Given the description of an element on the screen output the (x, y) to click on. 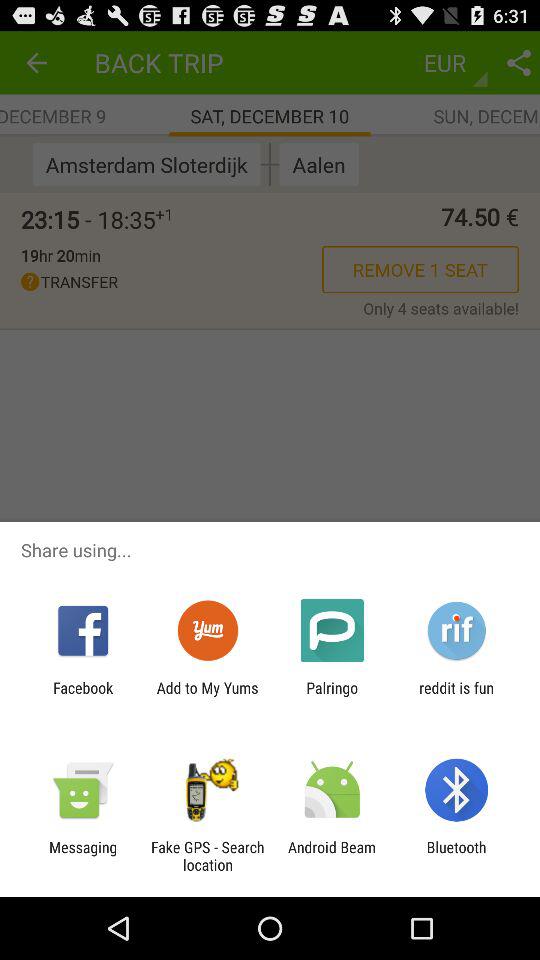
tap the app to the right of facebook app (207, 696)
